Given the description of an element on the screen output the (x, y) to click on. 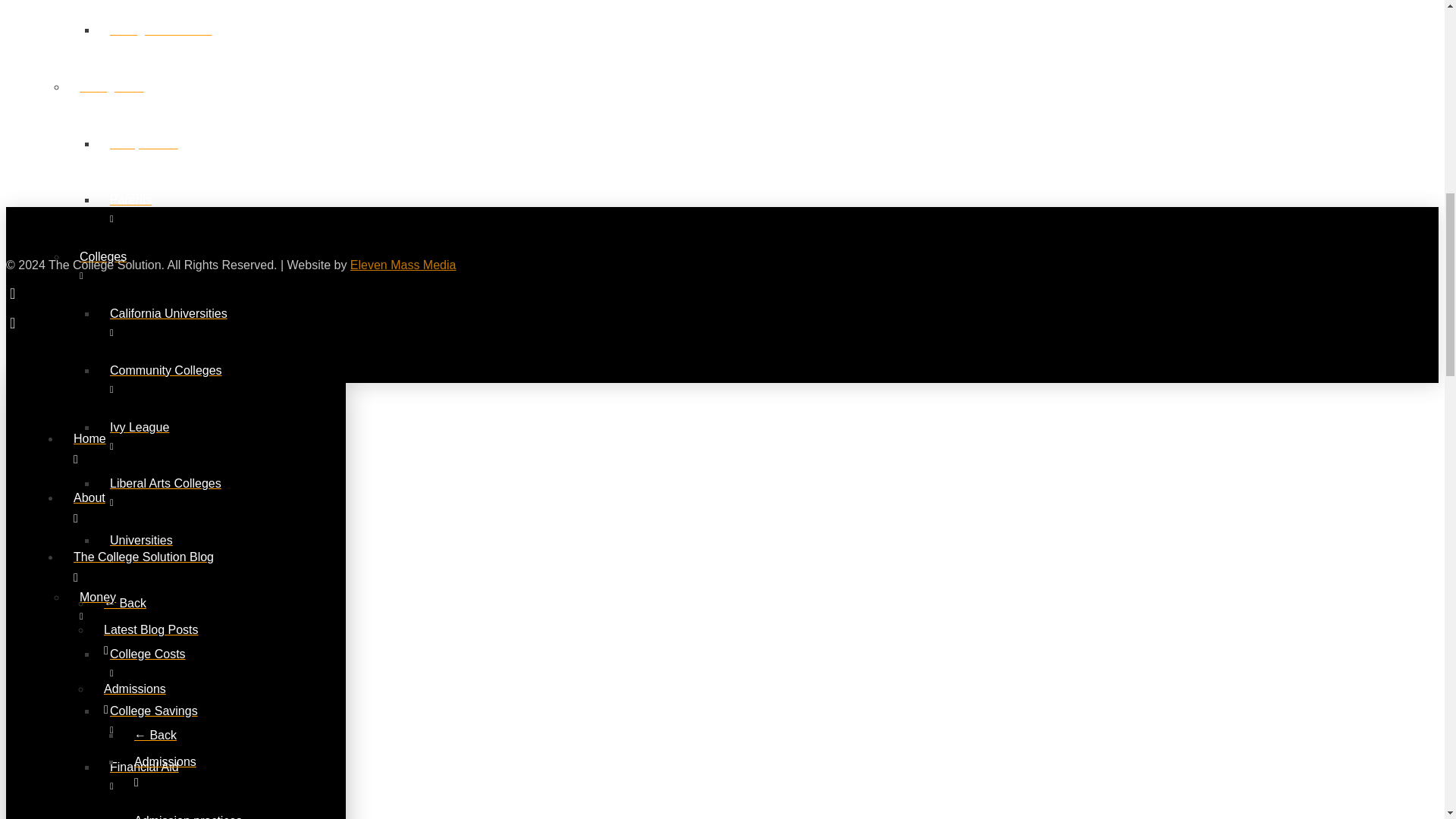
Campus Life (181, 152)
Parents (181, 208)
Colleges (150, 265)
College Costs (181, 662)
College Readiness (181, 38)
Scholarships (181, 811)
California Universities (181, 322)
Careers (181, 5)
Eleven Mass Media (403, 264)
College Savings (181, 719)
Universities (181, 549)
Ivy League (181, 436)
Community Colleges (181, 379)
Money (150, 606)
Financial Aid (181, 775)
